Given the description of an element on the screen output the (x, y) to click on. 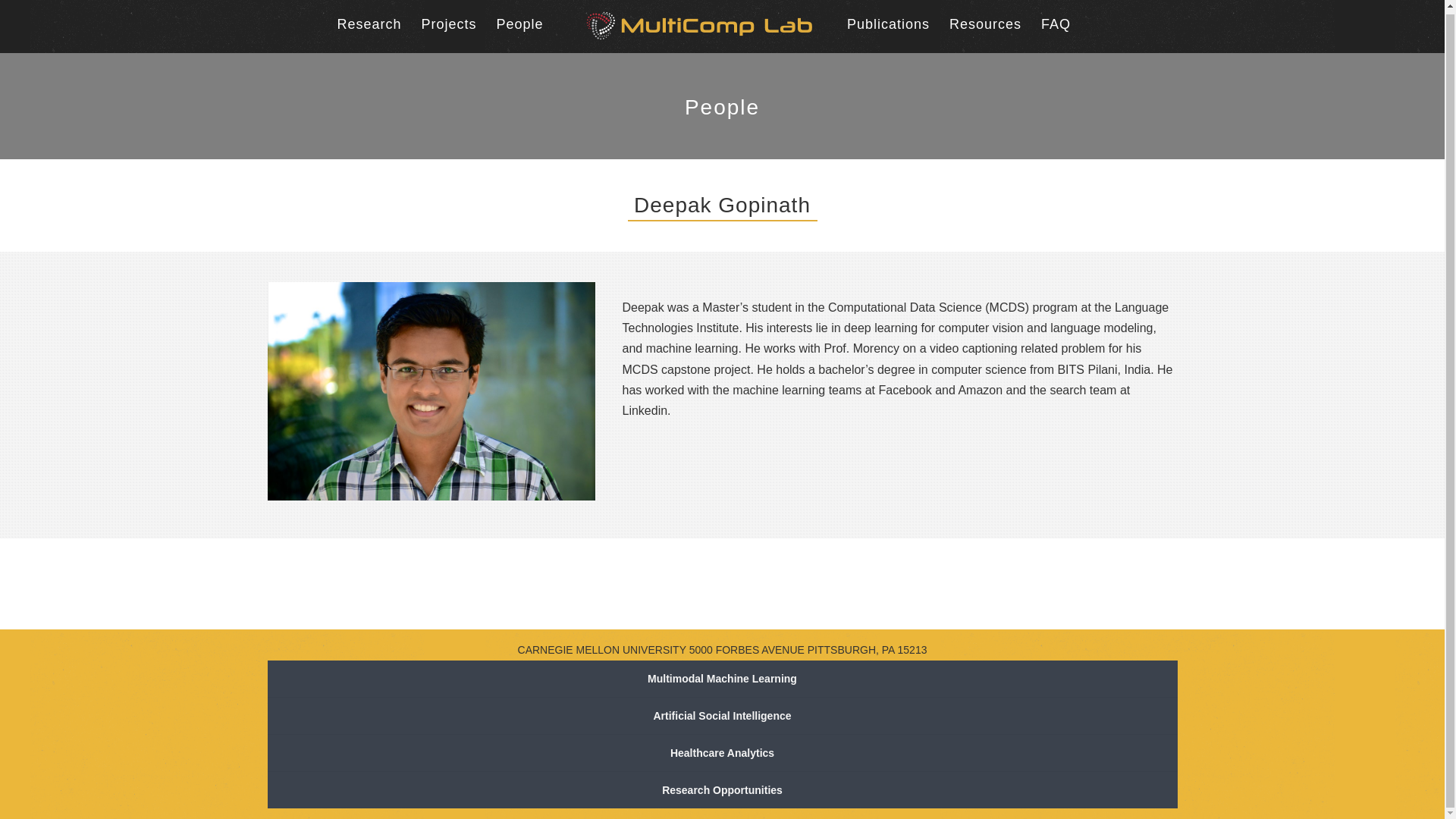
Healthcare Analytics (721, 753)
Projects (448, 24)
FAQ (1055, 24)
Research Opportunities (721, 790)
Artificial Social Intelligence (721, 715)
Publications (888, 24)
Resources (985, 24)
People (519, 24)
Research (368, 24)
Multimodal Machine Learning (721, 678)
